Given the description of an element on the screen output the (x, y) to click on. 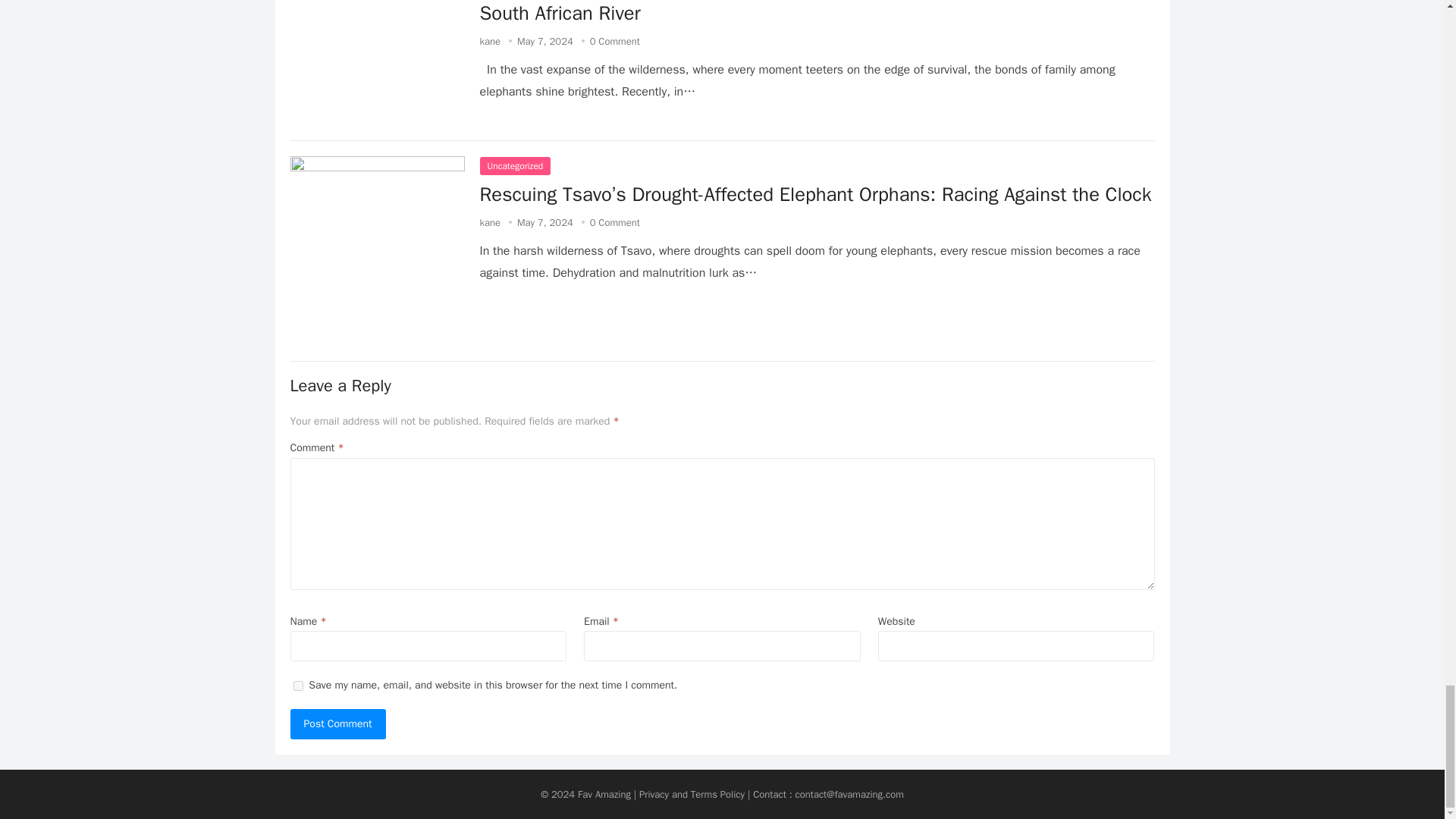
Posts by kane (489, 222)
yes (297, 685)
Posts by kane (489, 41)
Post Comment (337, 724)
